Given the description of an element on the screen output the (x, y) to click on. 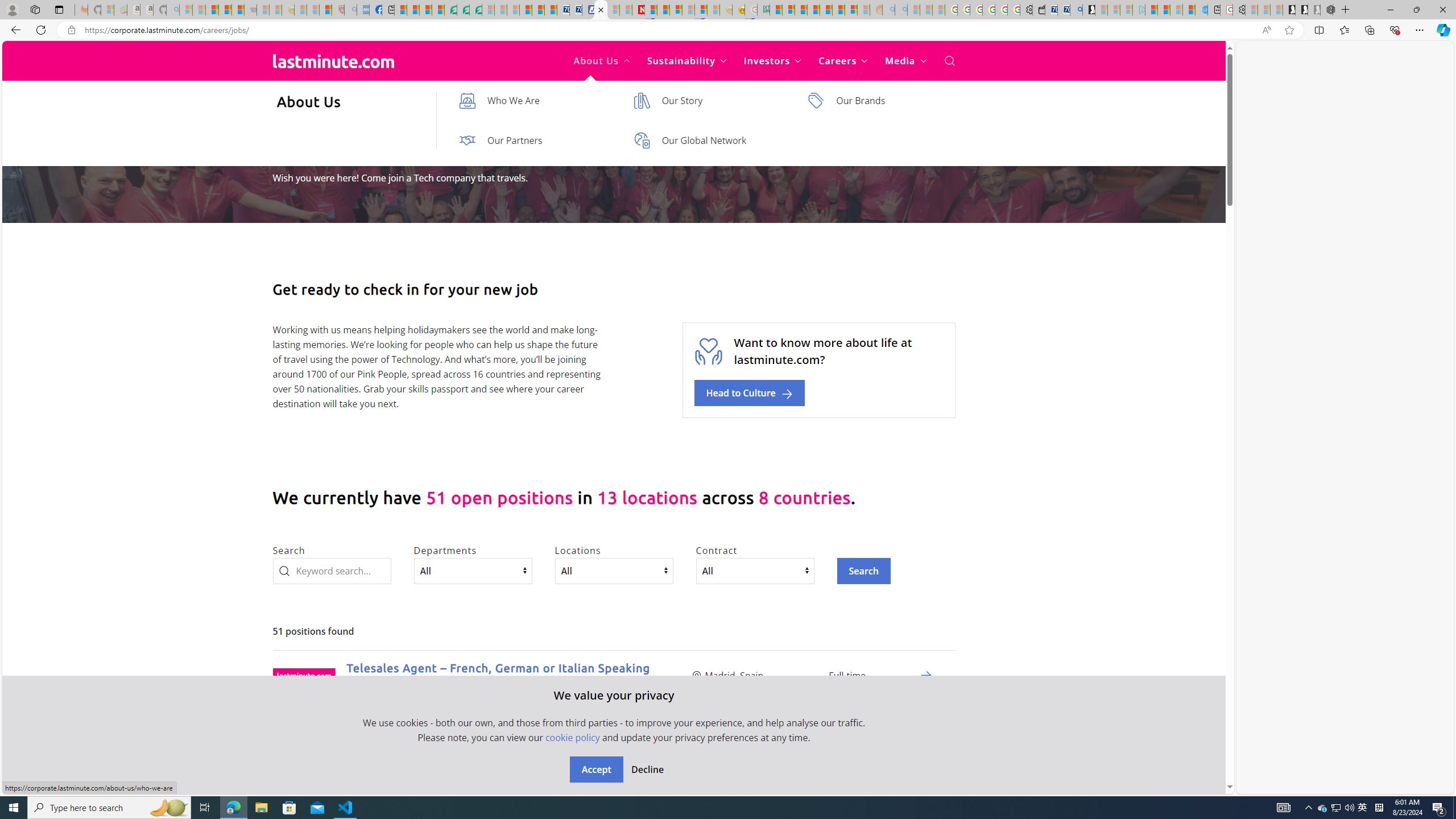
Media (906, 60)
NCL Adult Asthma Inhaler Choice Guideline - Sleeping (363, 9)
Our Partners (534, 140)
Microsoft-Report a Concern to Bing - Sleeping (107, 9)
Microsoft account | Privacy - Sleeping (1126, 9)
Departments (472, 570)
Investors (773, 60)
Kinda Frugal - MSN (838, 9)
